Given the description of an element on the screen output the (x, y) to click on. 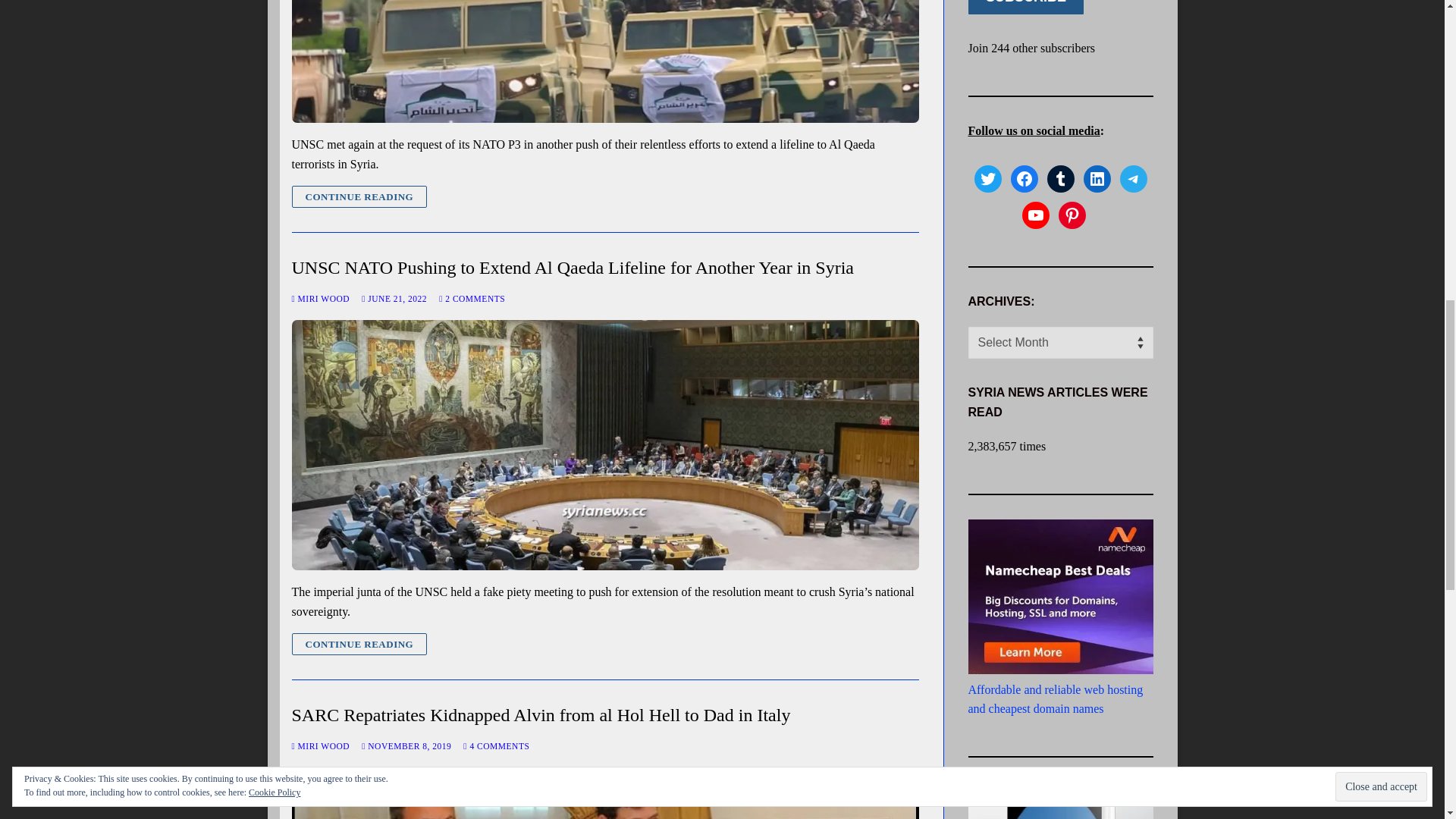
JUNE 21, 2022 (393, 298)
4 COMMENTS (496, 746)
2 COMMENTS (472, 298)
MIRI WOOD (320, 746)
CONTINUE READING (358, 644)
NOVEMBER 8, 2019 (406, 746)
Twitter (987, 178)
CONTINUE READING (358, 196)
MIRI WOOD (320, 298)
